Given the description of an element on the screen output the (x, y) to click on. 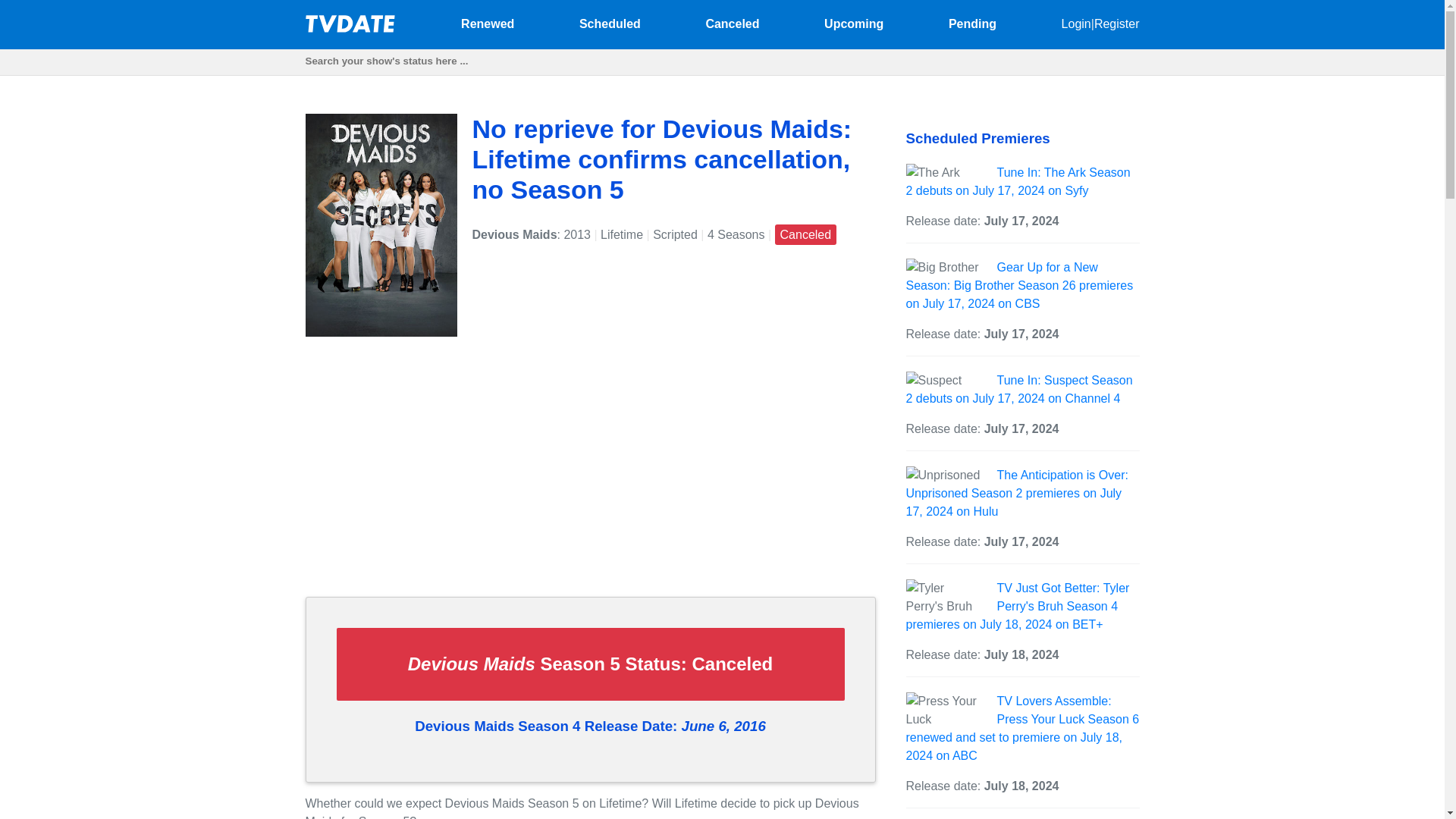
Login (1075, 23)
Pending (972, 23)
Advertisement (589, 478)
Canceled (731, 23)
Scheduled (609, 23)
Register (1117, 23)
Upcoming (853, 23)
Renewed (487, 23)
